Given the description of an element on the screen output the (x, y) to click on. 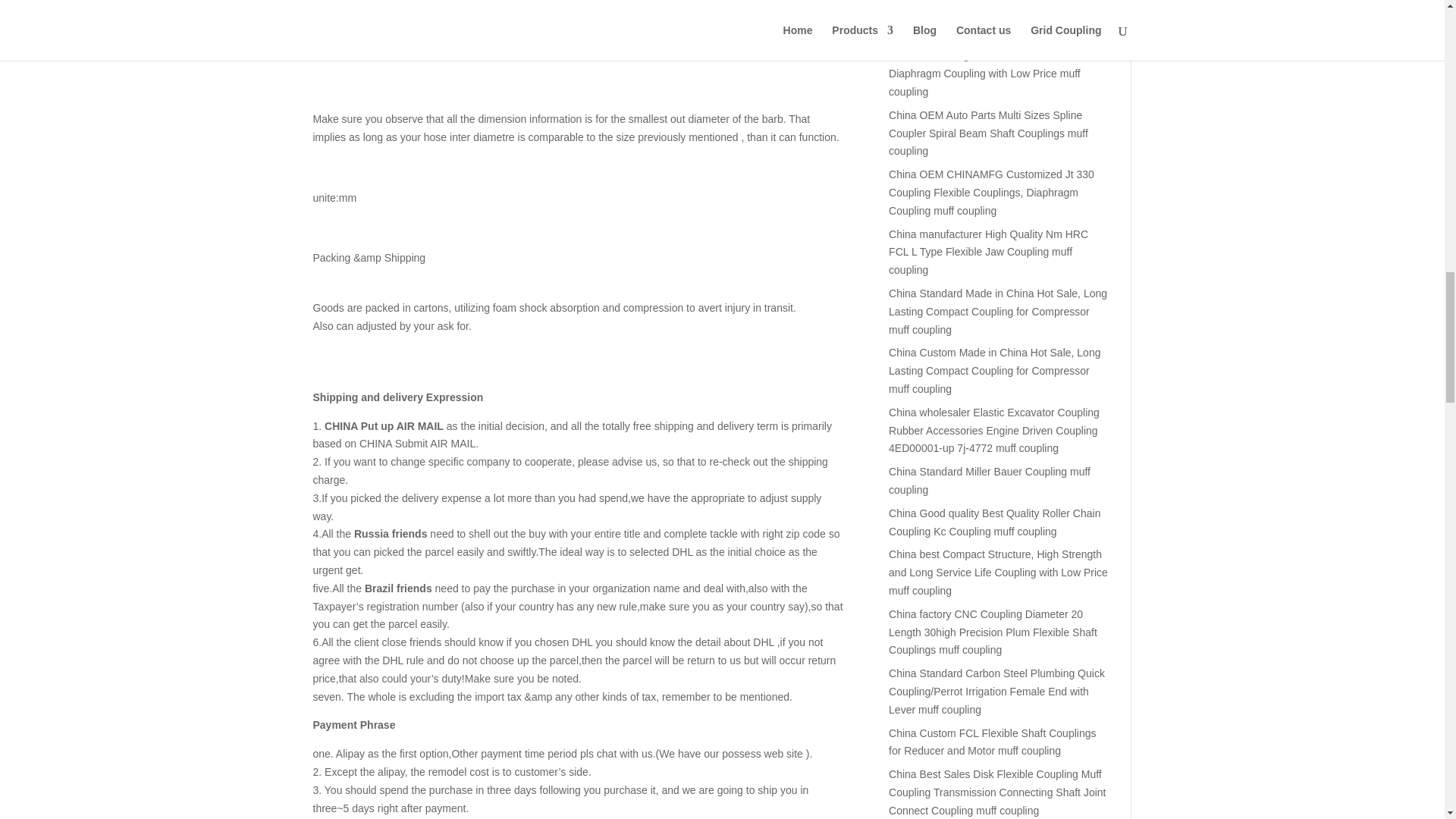
China Standard Miller Bauer Coupling muff coupling (989, 481)
